Given the description of an element on the screen output the (x, y) to click on. 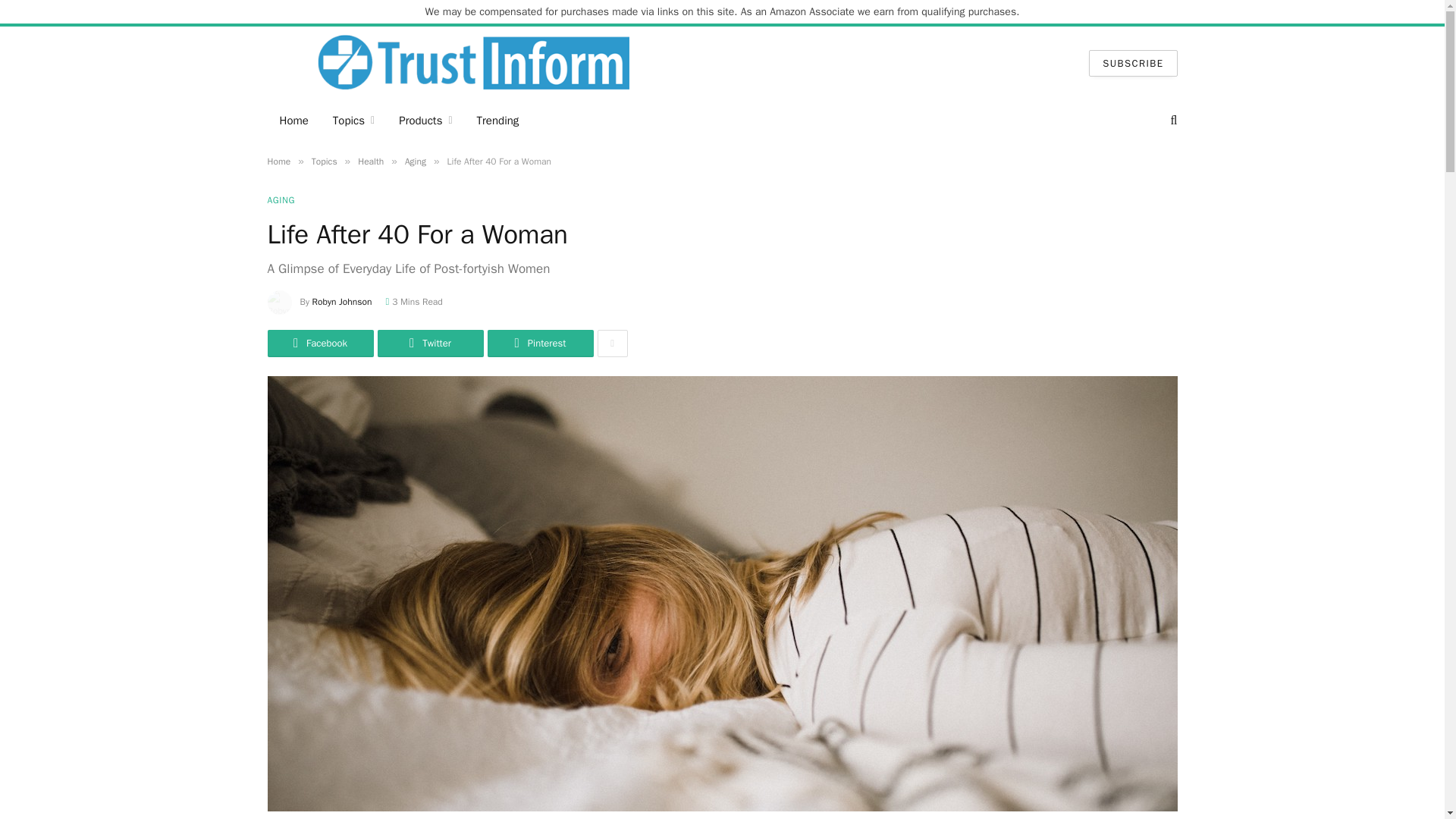
Share on Facebook (319, 343)
Health (371, 161)
Topics (324, 161)
Robyn Johnson (342, 301)
Twitter (430, 343)
Home (277, 161)
Products (425, 119)
Search (1172, 120)
Home (293, 119)
AGING (280, 200)
Trending (497, 119)
Share on Pinterest (539, 343)
Posts by Robyn Johnson (342, 301)
SUBSCRIBE (1132, 62)
Facebook (319, 343)
